Given the description of an element on the screen output the (x, y) to click on. 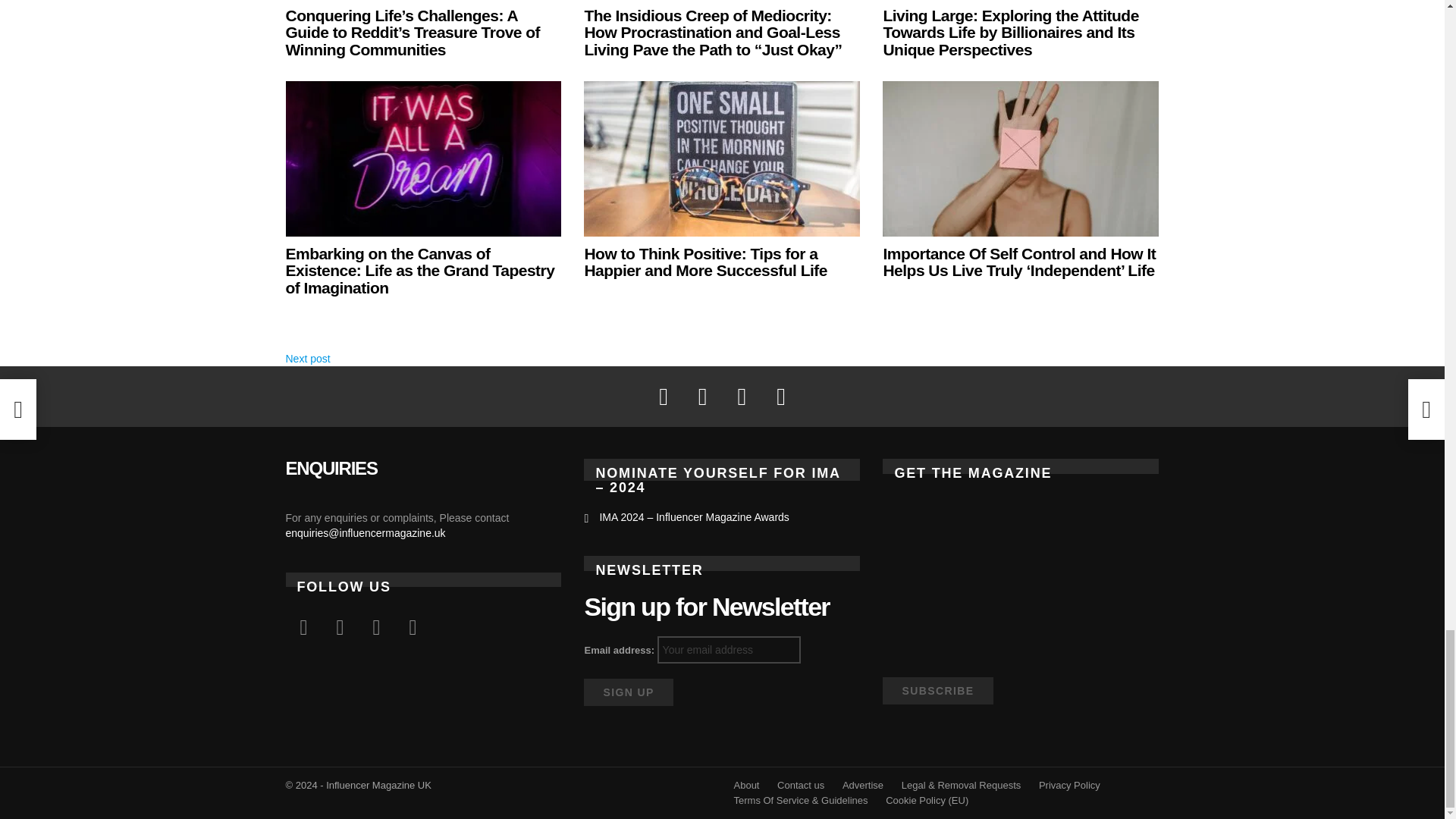
Sign up (627, 691)
Next post (307, 358)
